Given the description of an element on the screen output the (x, y) to click on. 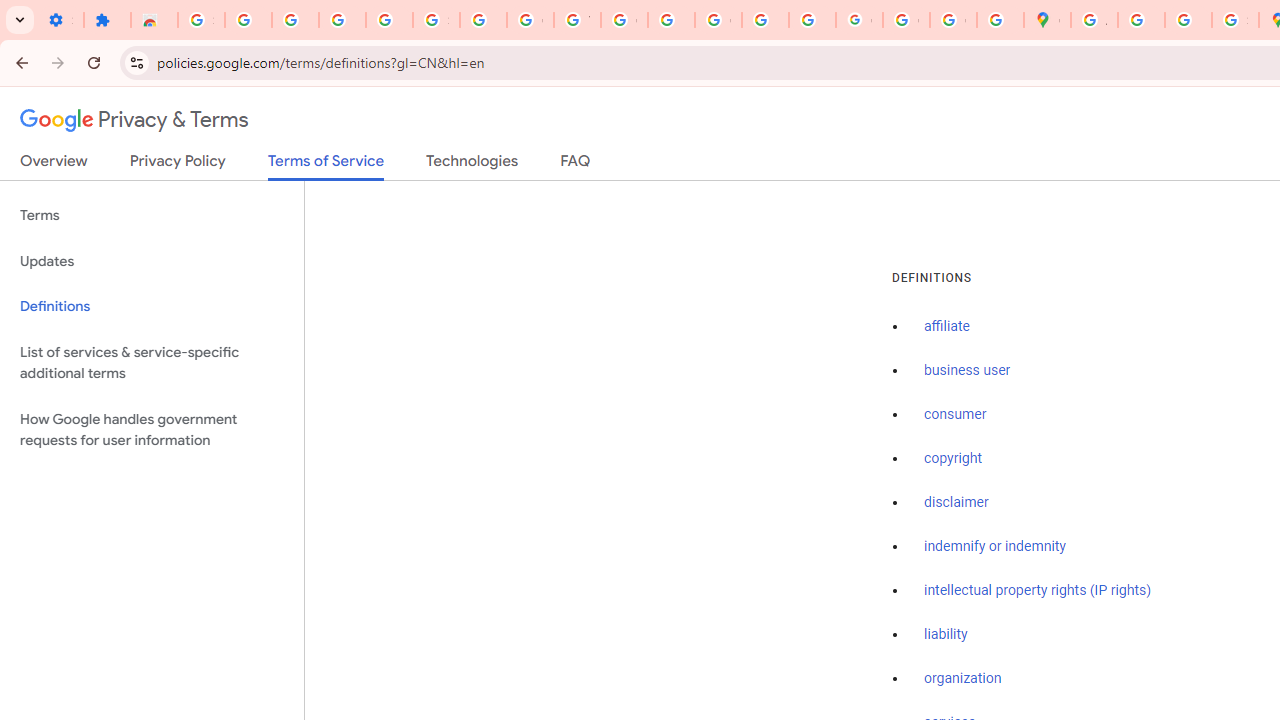
List of services & service-specific additional terms (152, 362)
Privacy & Terms (134, 120)
Learn how to find your photos - Google Photos Help (342, 20)
disclaimer (956, 502)
intellectual property rights (IP rights) (1038, 590)
Settings - On startup (60, 20)
Technologies (472, 165)
Overview (54, 165)
